Given the description of an element on the screen output the (x, y) to click on. 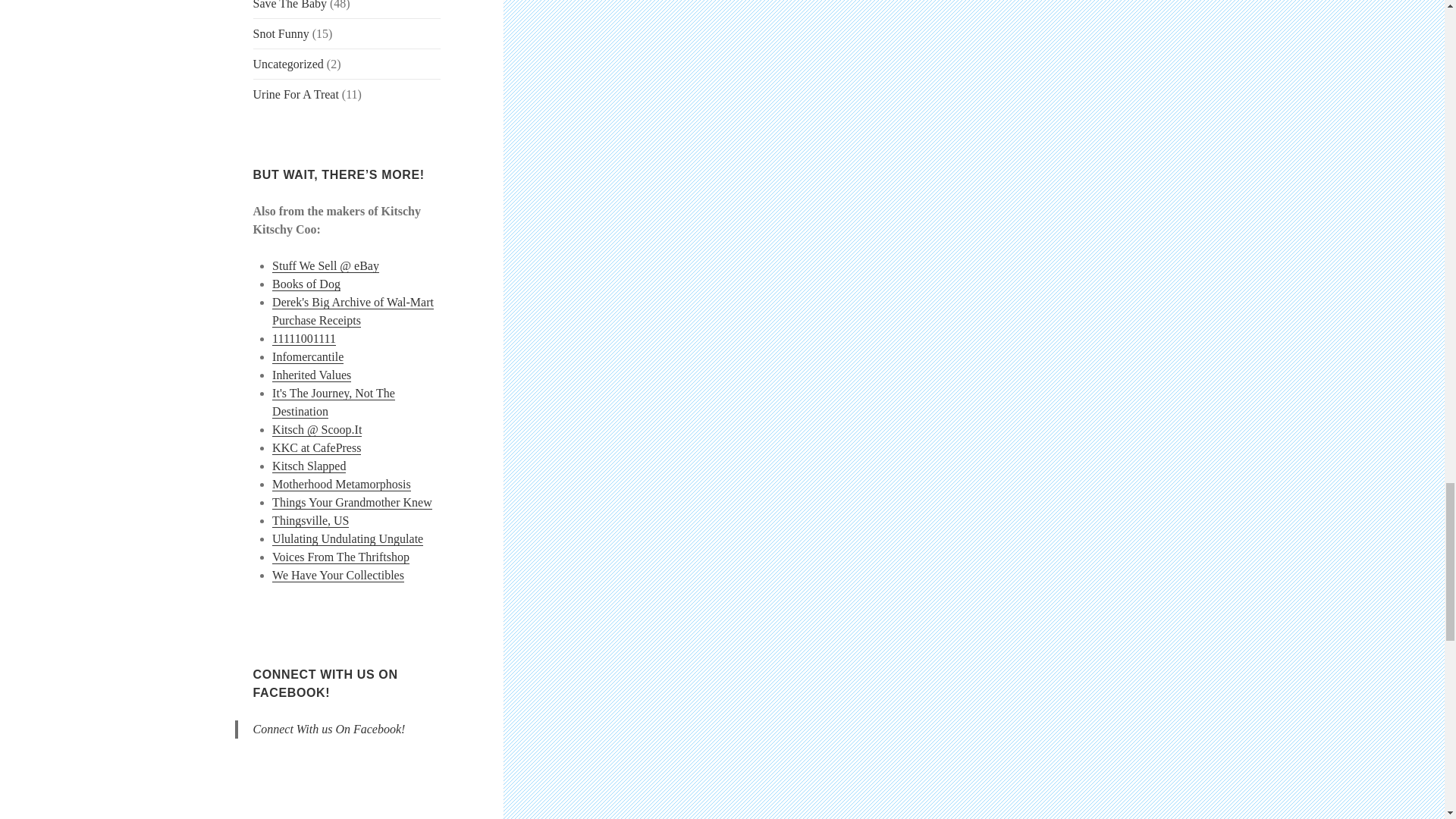
Derek's Big Archive of Wal-Mart Purchase Receipts (352, 311)
Books of Dog (306, 284)
Infomercantile (307, 356)
Urine For A Treat (296, 93)
Snot Funny (280, 33)
Save The Baby (289, 4)
Uncategorized (288, 63)
11111001111 (304, 338)
